Given the description of an element on the screen output the (x, y) to click on. 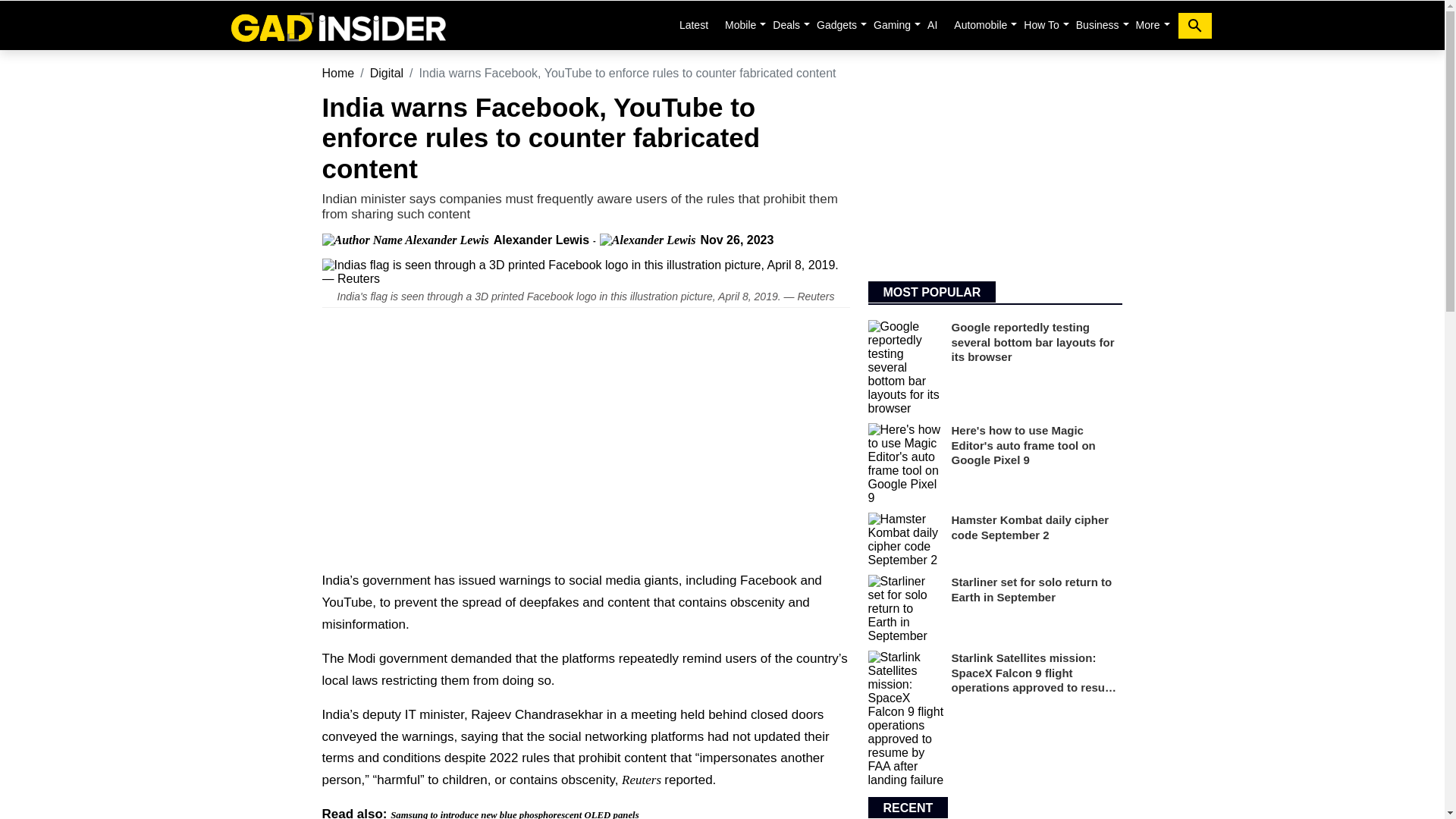
Mobile (740, 24)
Home (337, 72)
Mobile (740, 24)
Home (337, 24)
Automobile (980, 24)
Gadgets (836, 24)
AI (932, 24)
Automobile (980, 24)
Gadgets (836, 24)
Gaming (892, 24)
